Given the description of an element on the screen output the (x, y) to click on. 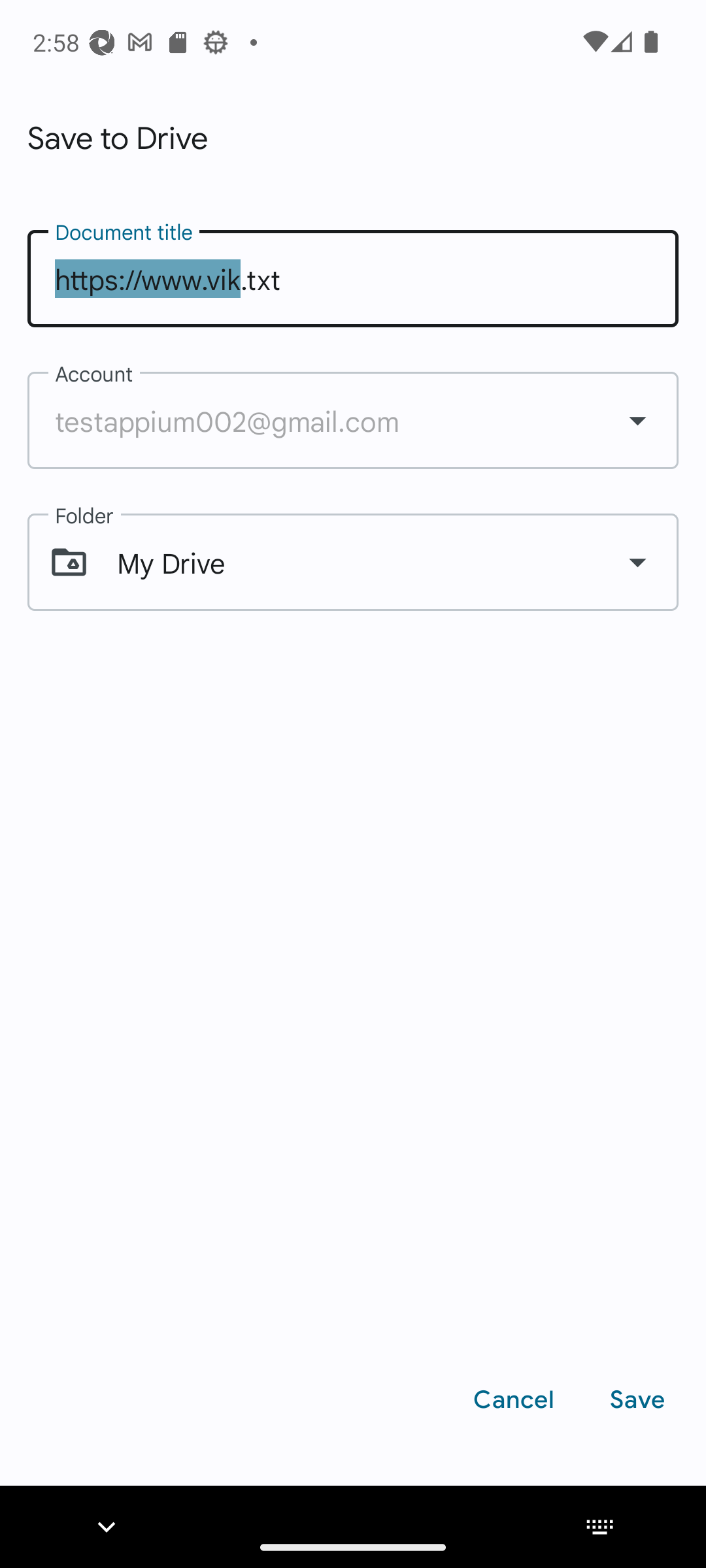
https://www.vik.txt (352, 278)
Show dropdown menu (636, 419)
My Drive My Drive. Click to change. (352, 562)
Show dropdown menu (636, 561)
Cancel (513, 1399)
Save (637, 1399)
